Given the description of an element on the screen output the (x, y) to click on. 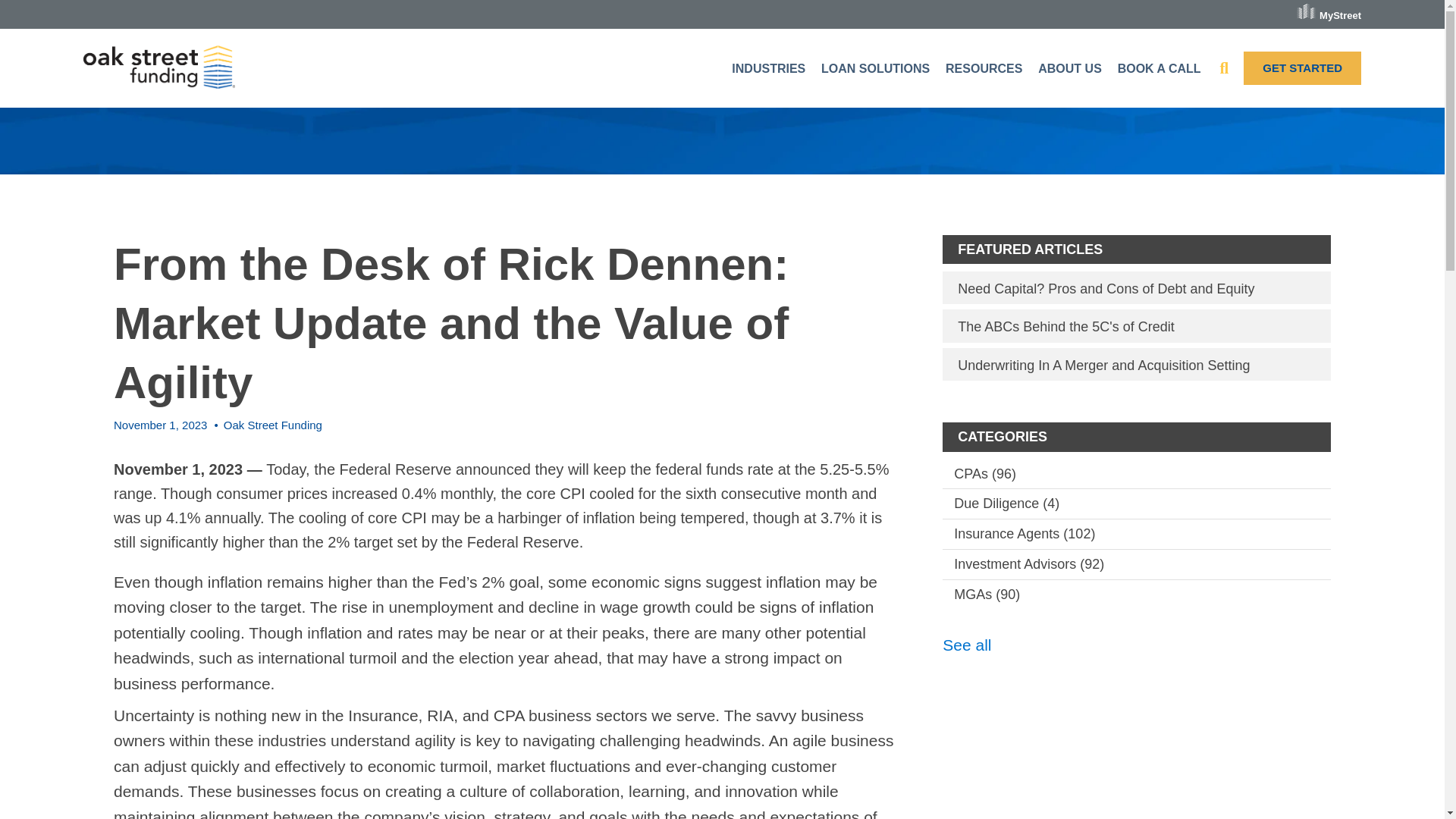
MyStreet (1329, 10)
INDUSTRIES (770, 69)
BOOK A CALL (1161, 69)
ABOUT US (1071, 69)
GET STARTED (1302, 68)
GET STARTED (1302, 68)
RESOURCES (985, 69)
LOAN SOLUTIONS (877, 69)
